Given the description of an element on the screen output the (x, y) to click on. 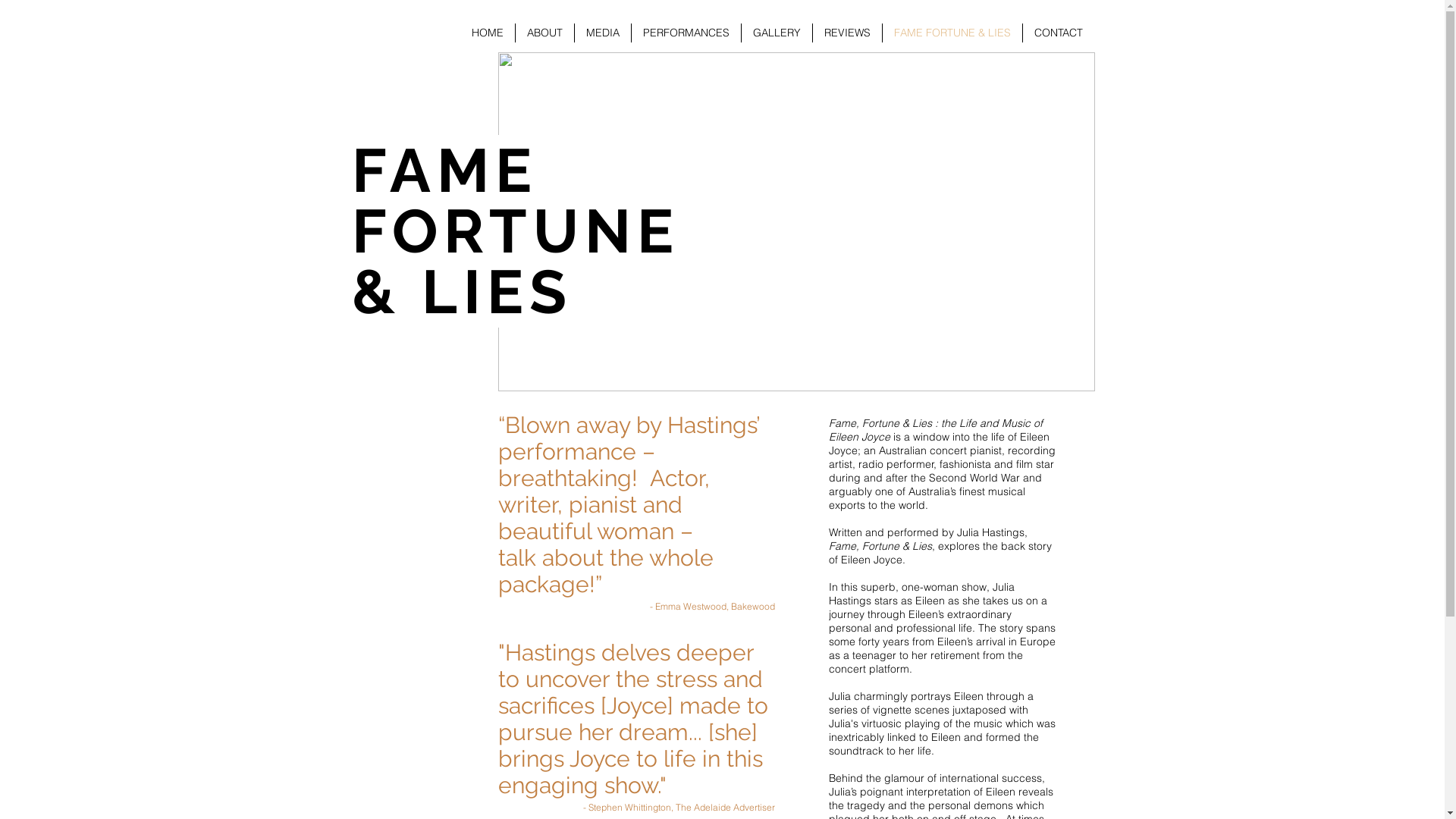
REVIEWS Element type: text (846, 32)
CONTACT Element type: text (1057, 32)
2015_10_08--15_12_35--5512.jpg Element type: hover (795, 221)
FAME FORTUNE & LIES Element type: text (952, 32)
PERFORMANCES Element type: text (685, 32)
Embedded Content Element type: hover (446, 14)
HOME Element type: text (486, 32)
GALLERY Element type: text (776, 32)
ABOUT Element type: text (544, 32)
MEDIA Element type: text (602, 32)
